Given the description of an element on the screen output the (x, y) to click on. 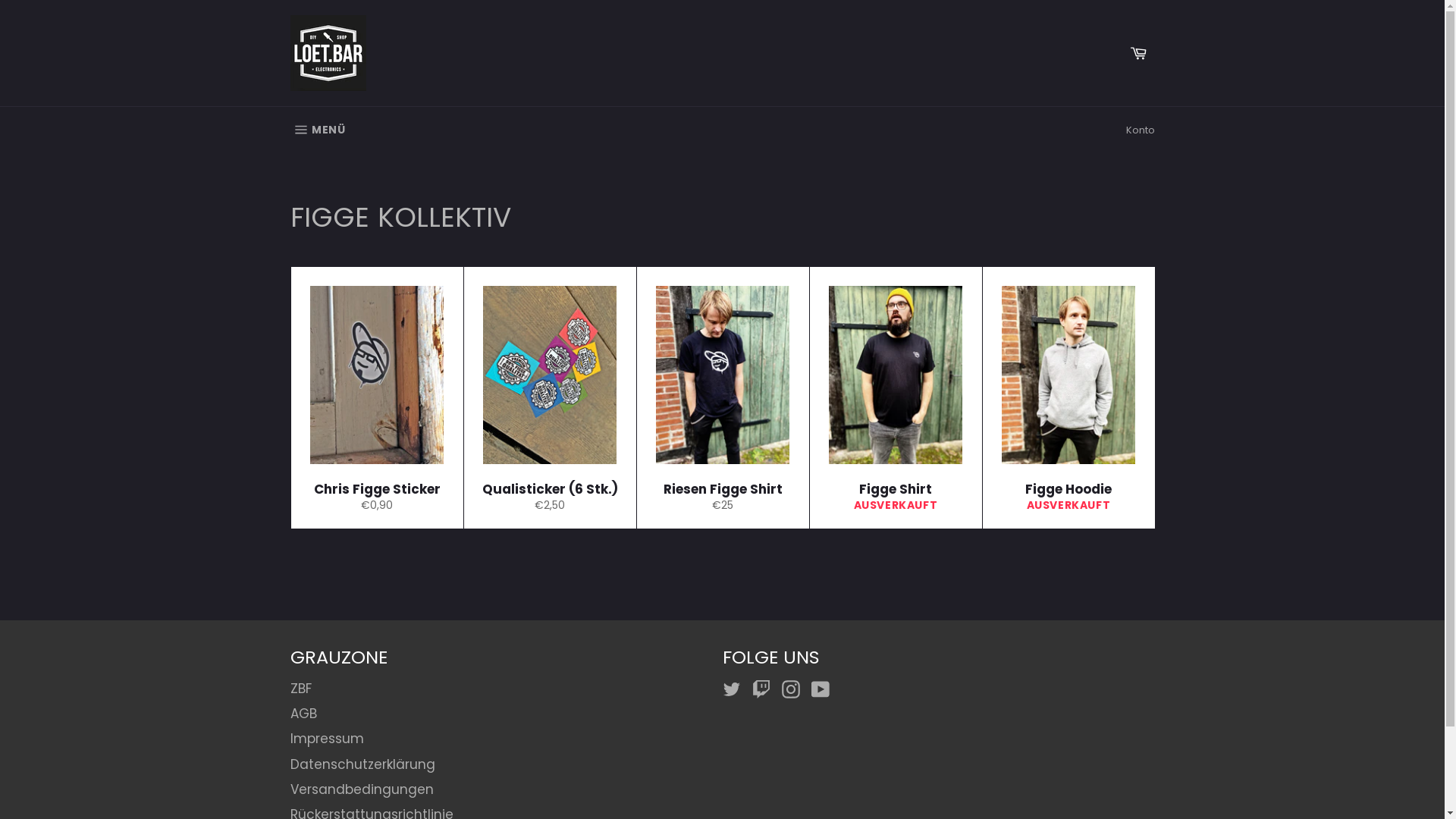
Impressum Element type: text (326, 738)
ZBF Element type: text (299, 688)
Figge Hoodie
AUSVERKAUFT Element type: text (1067, 397)
Konto Element type: text (1139, 130)
Figge Shirt
AUSVERKAUFT Element type: text (894, 397)
Twitch Element type: text (765, 689)
YouTube Element type: text (824, 689)
Instagram Element type: text (793, 689)
Versandbedingungen Element type: text (361, 789)
AGB Element type: text (302, 713)
Twitter Element type: text (734, 689)
Warenkorb Element type: text (1138, 53)
